Given the description of an element on the screen output the (x, y) to click on. 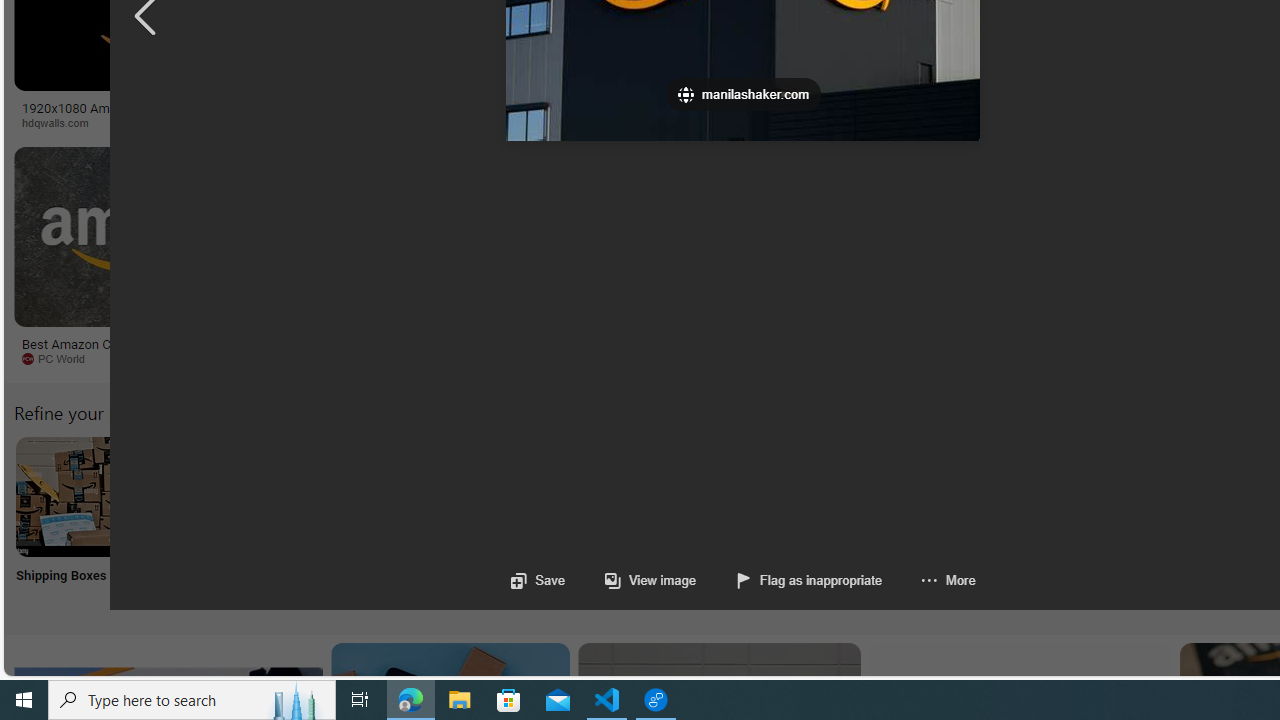
PC World (146, 359)
Online Shopping Search (207, 521)
Amazon Online Store (1131, 496)
Flag as inappropriate (789, 580)
Amazon Online Store Online Store (1131, 521)
The Verge (335, 358)
Amazon Jobs Near Me (604, 496)
Clip Art (339, 521)
Amazon Online Shopping Search Online Shopping Search (207, 521)
View image (630, 580)
Retail Store (867, 521)
